Given the description of an element on the screen output the (x, y) to click on. 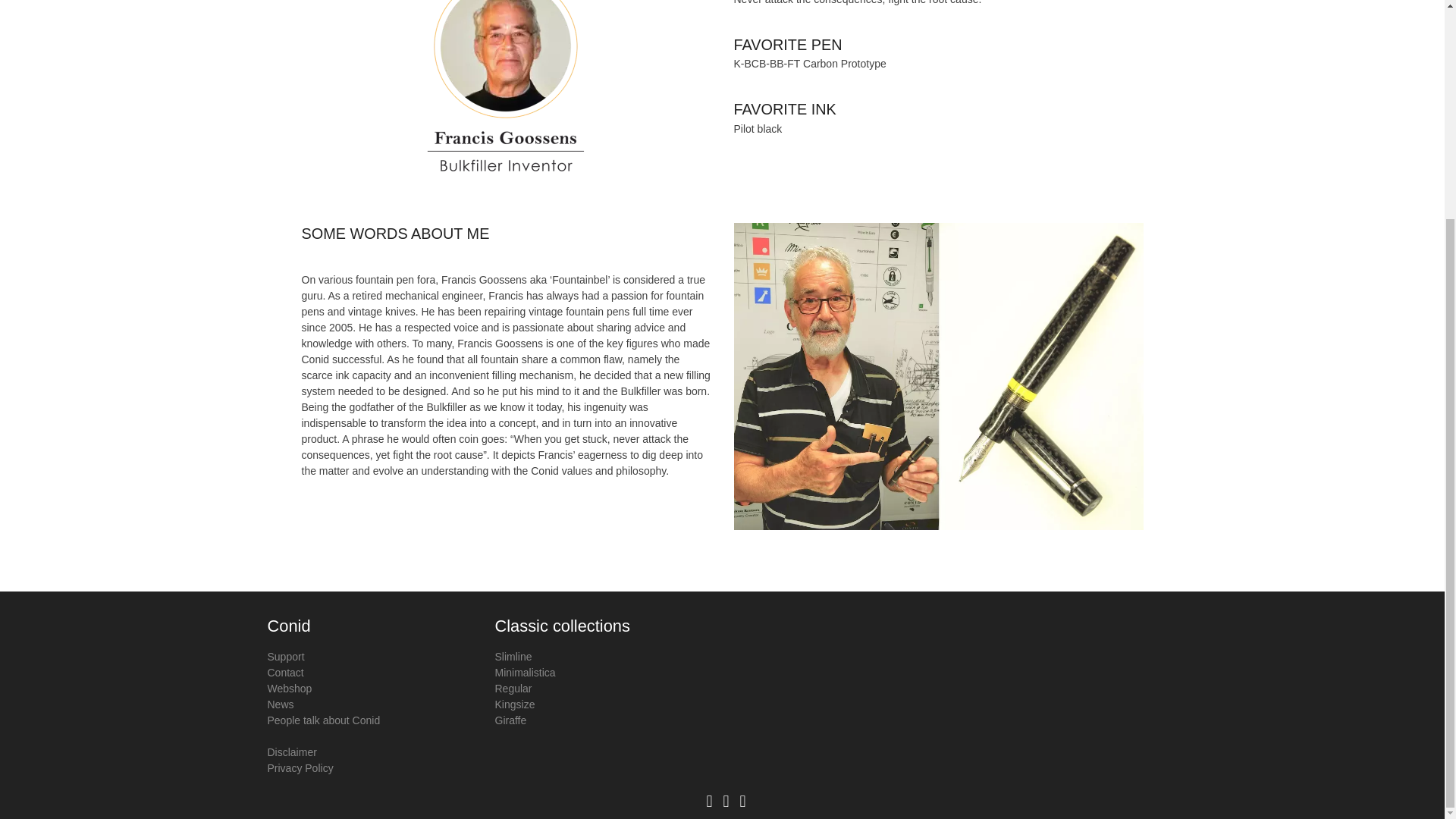
Contact (284, 672)
News (280, 704)
Webshop (288, 688)
Support (285, 656)
